Given the description of an element on the screen output the (x, y) to click on. 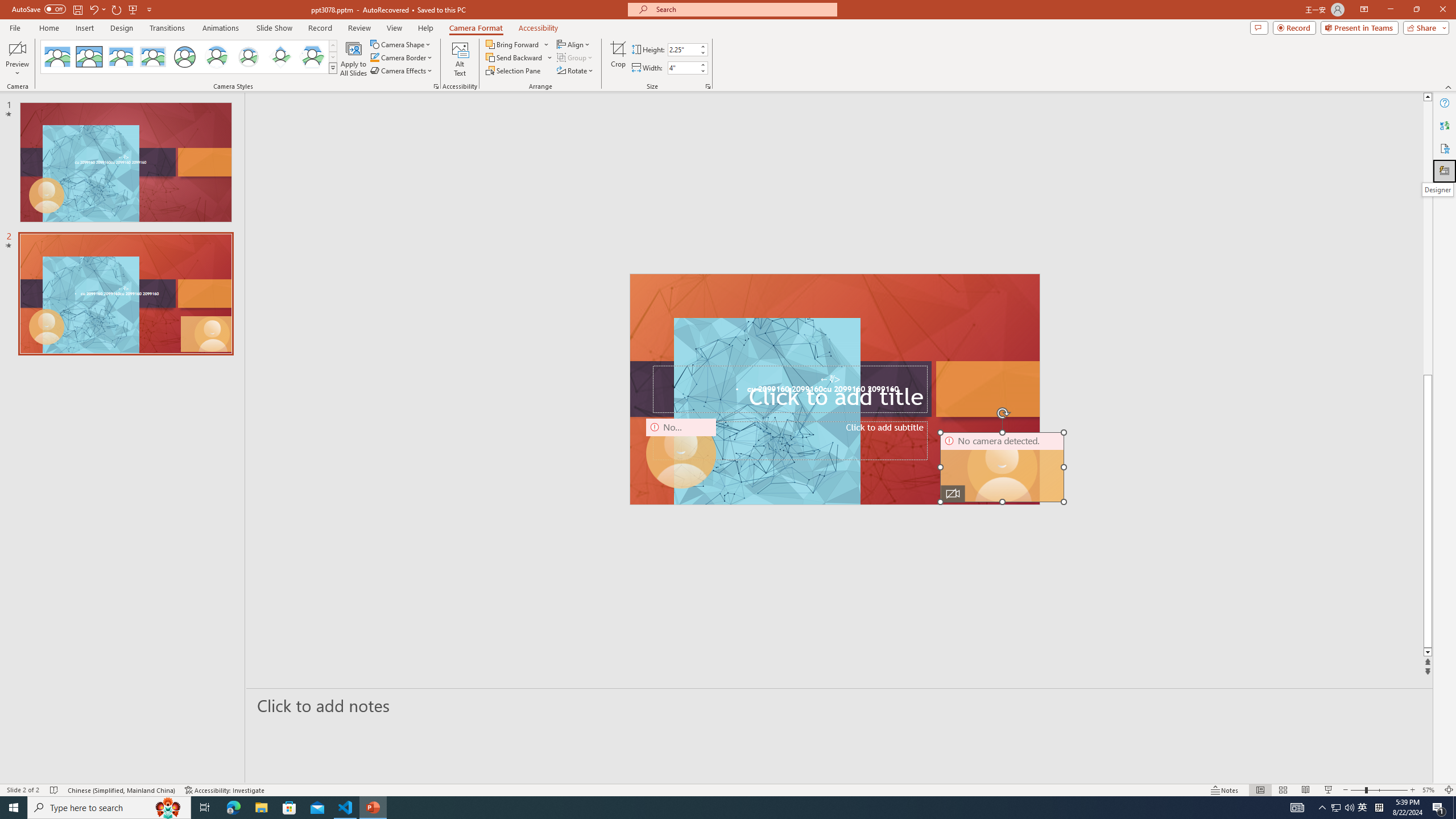
Group (575, 56)
Crop (617, 58)
Simple Frame Rectangle (88, 56)
Camera 9, No camera detected. (681, 453)
